Given the description of an element on the screen output the (x, y) to click on. 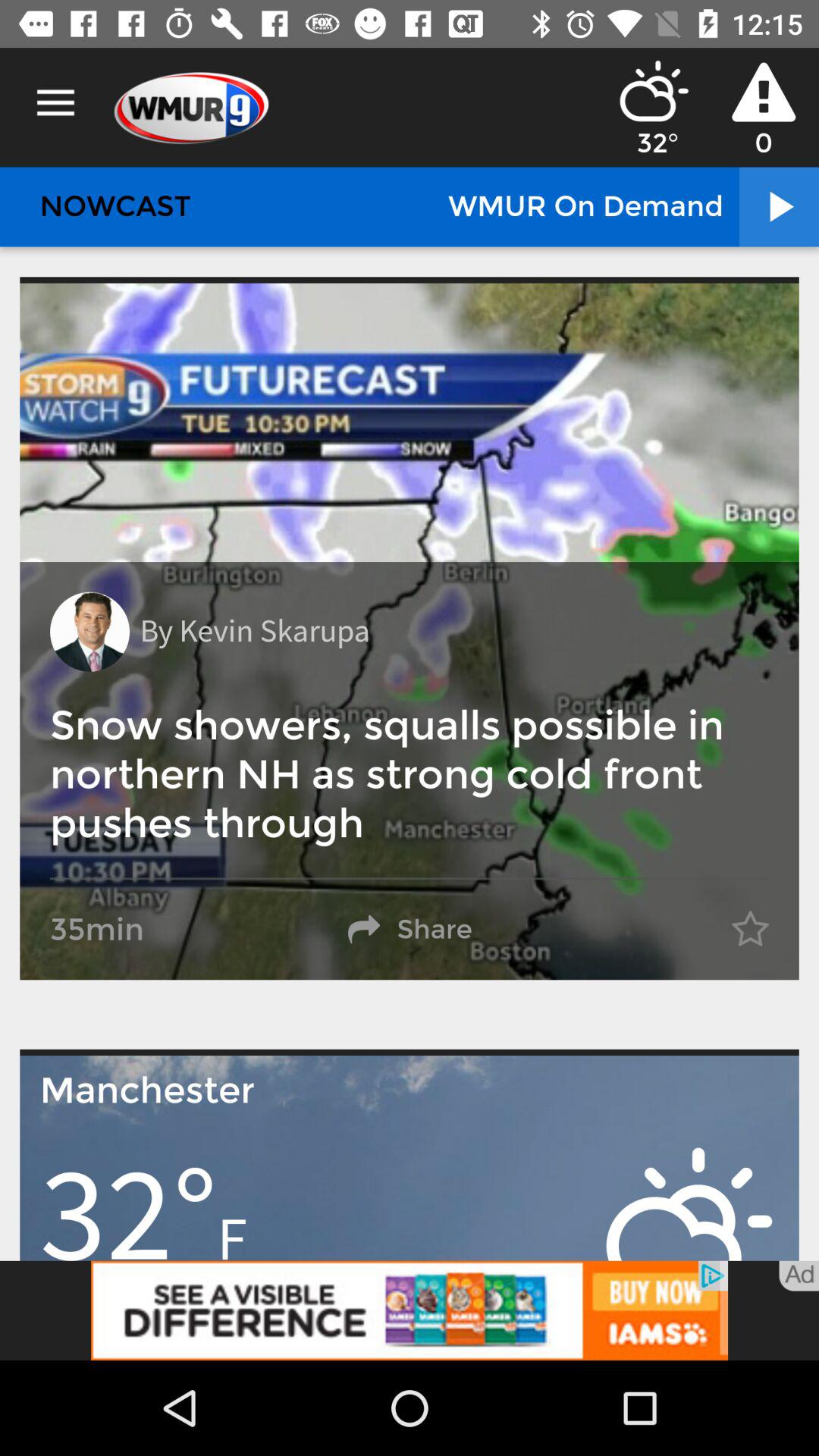
games (409, 1310)
